Given the description of an element on the screen output the (x, y) to click on. 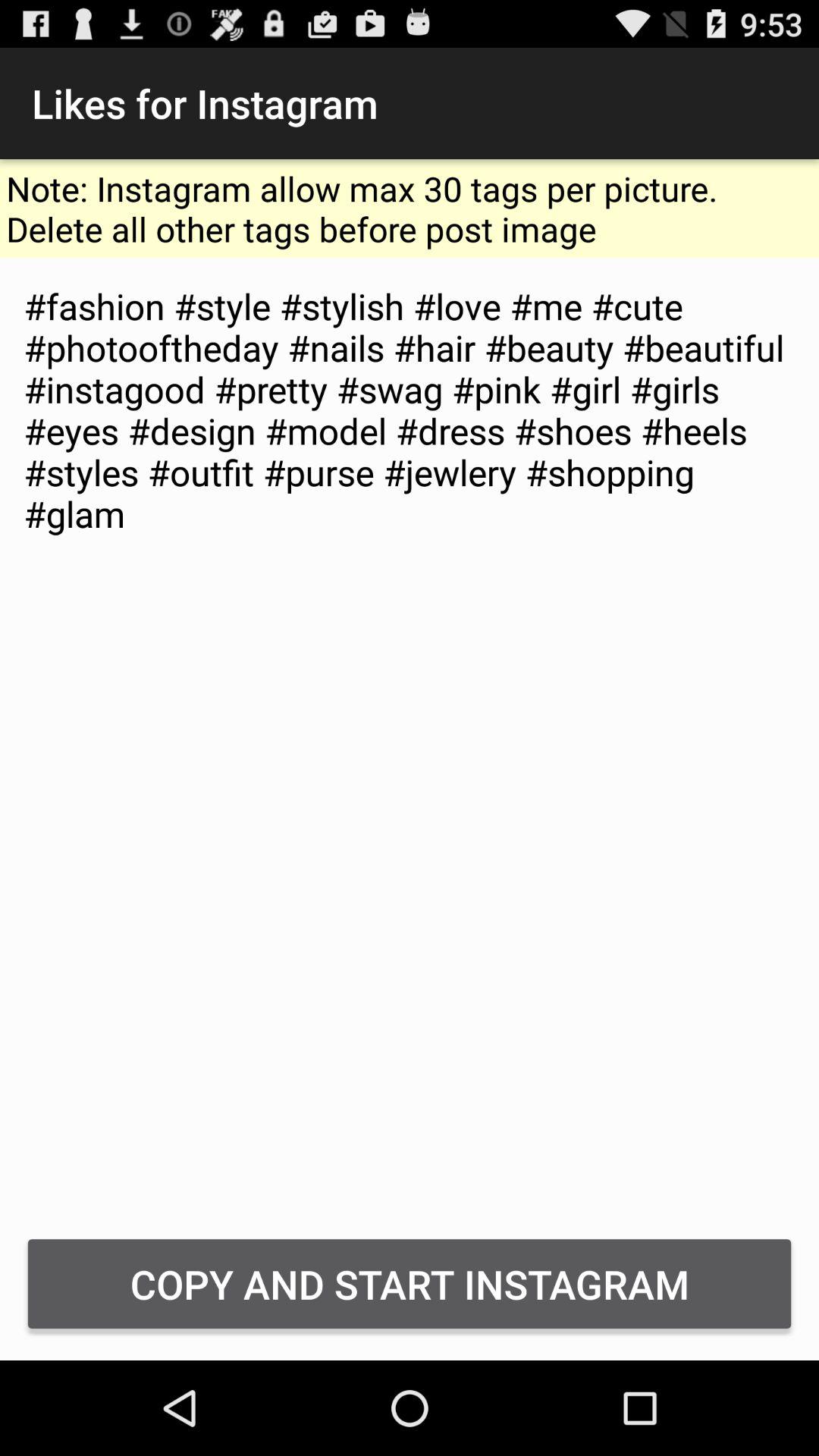
launch the icon below fashion style stylish (409, 1283)
